Given the description of an element on the screen output the (x, y) to click on. 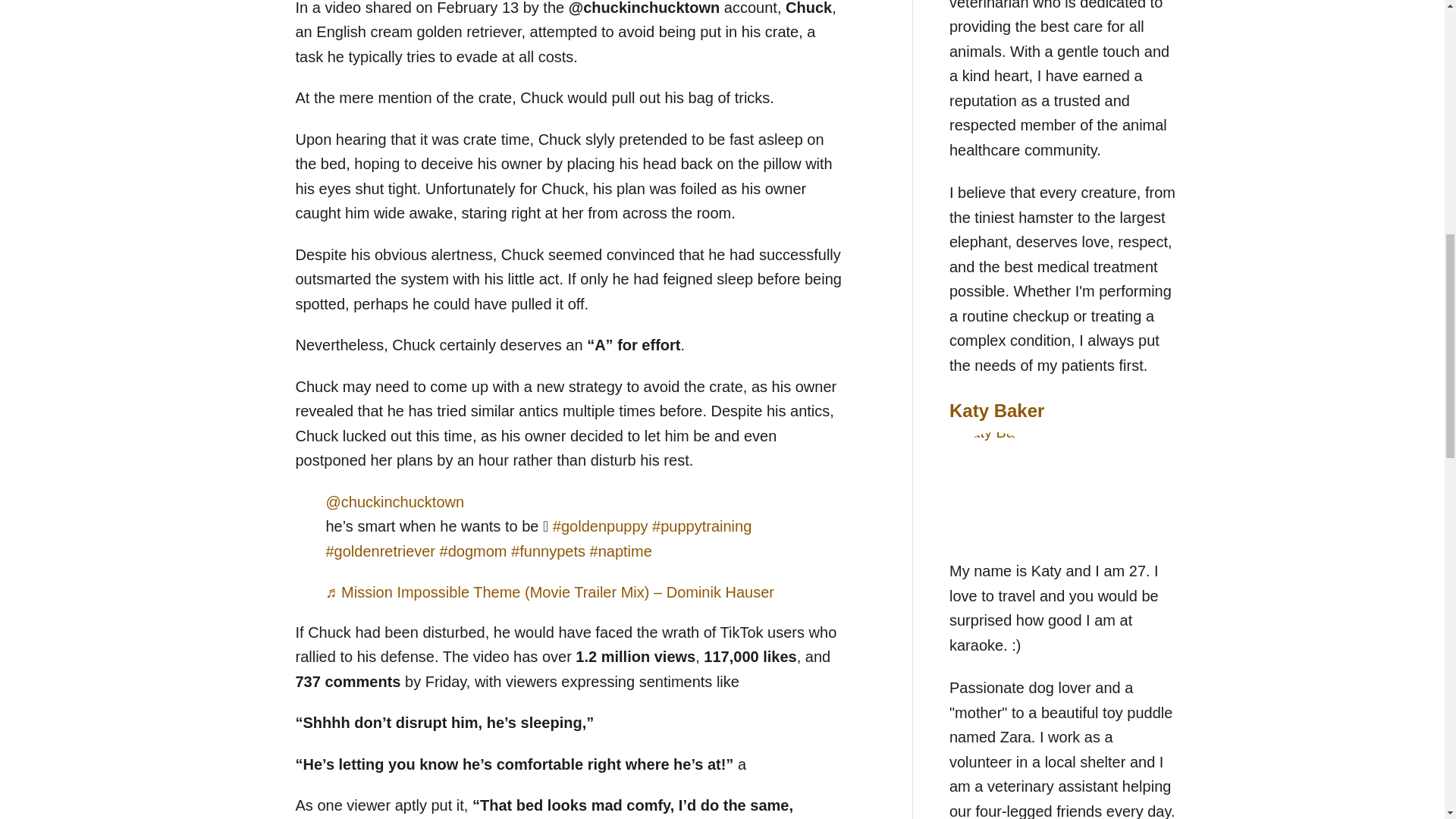
naptime (620, 550)
puppytraining (701, 525)
dogmom (472, 550)
funnypets (548, 550)
goldenpuppy (600, 525)
goldenretriever (380, 550)
